Given the description of an element on the screen output the (x, y) to click on. 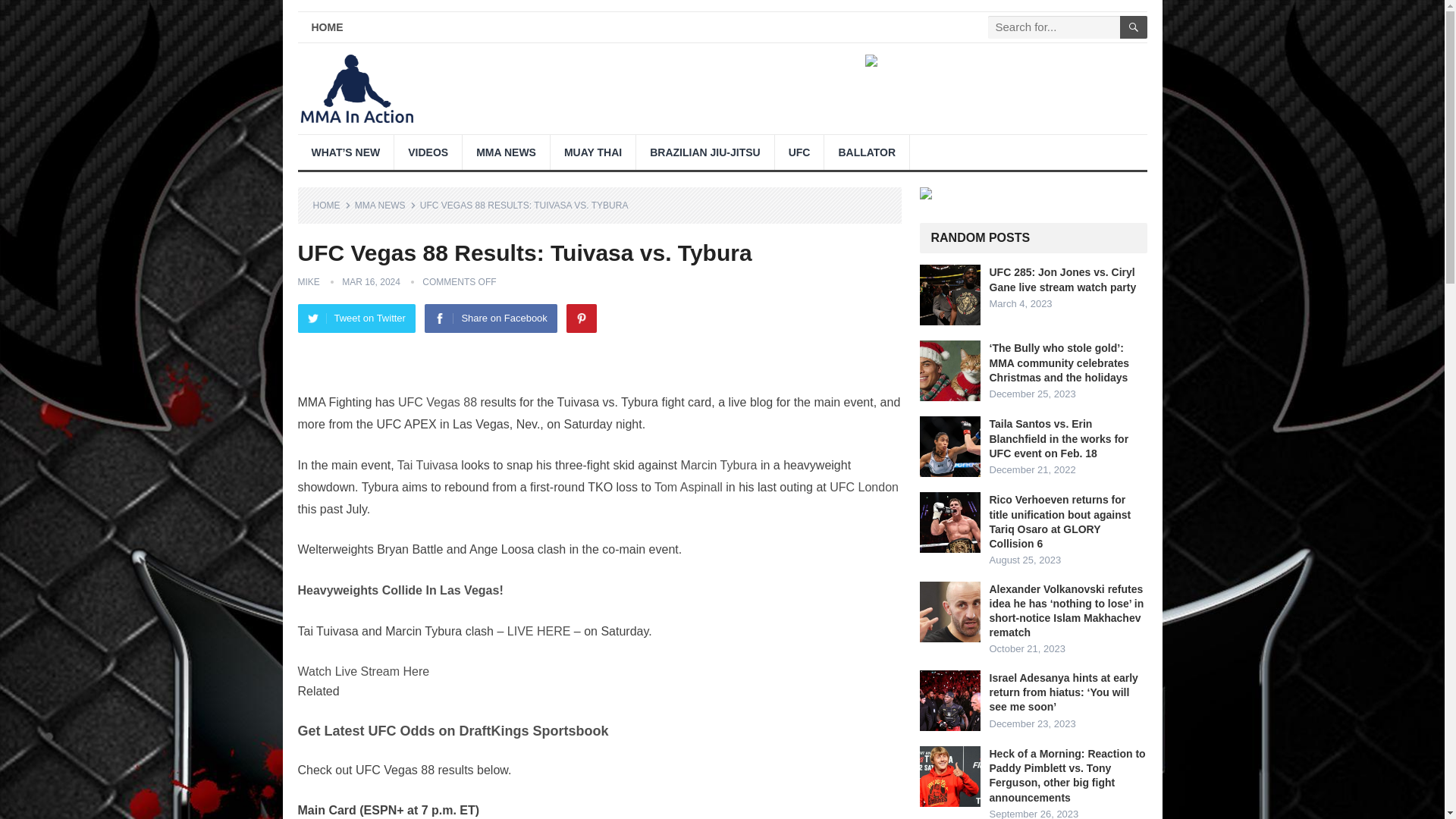
Posts by Mike (307, 281)
BALLATOR (866, 152)
LIVE HERE (538, 631)
UFC (799, 152)
VIDEOS (427, 152)
Get Latest UFC Odds on DraftKings Sportsbook (452, 730)
UFC Vegas 88 (437, 401)
Tom Aspinall (687, 486)
Heavyweights Collide In Las Vegas! (399, 590)
BRAZILIAN JIU-JITSU (704, 152)
Pinterest (581, 317)
UFC 285: Jon Jones vs. Ciryl Gane live stream watch party 13 (948, 294)
MUAY THAI (592, 152)
HOME (326, 27)
Tweet on Twitter (355, 317)
